Given the description of an element on the screen output the (x, y) to click on. 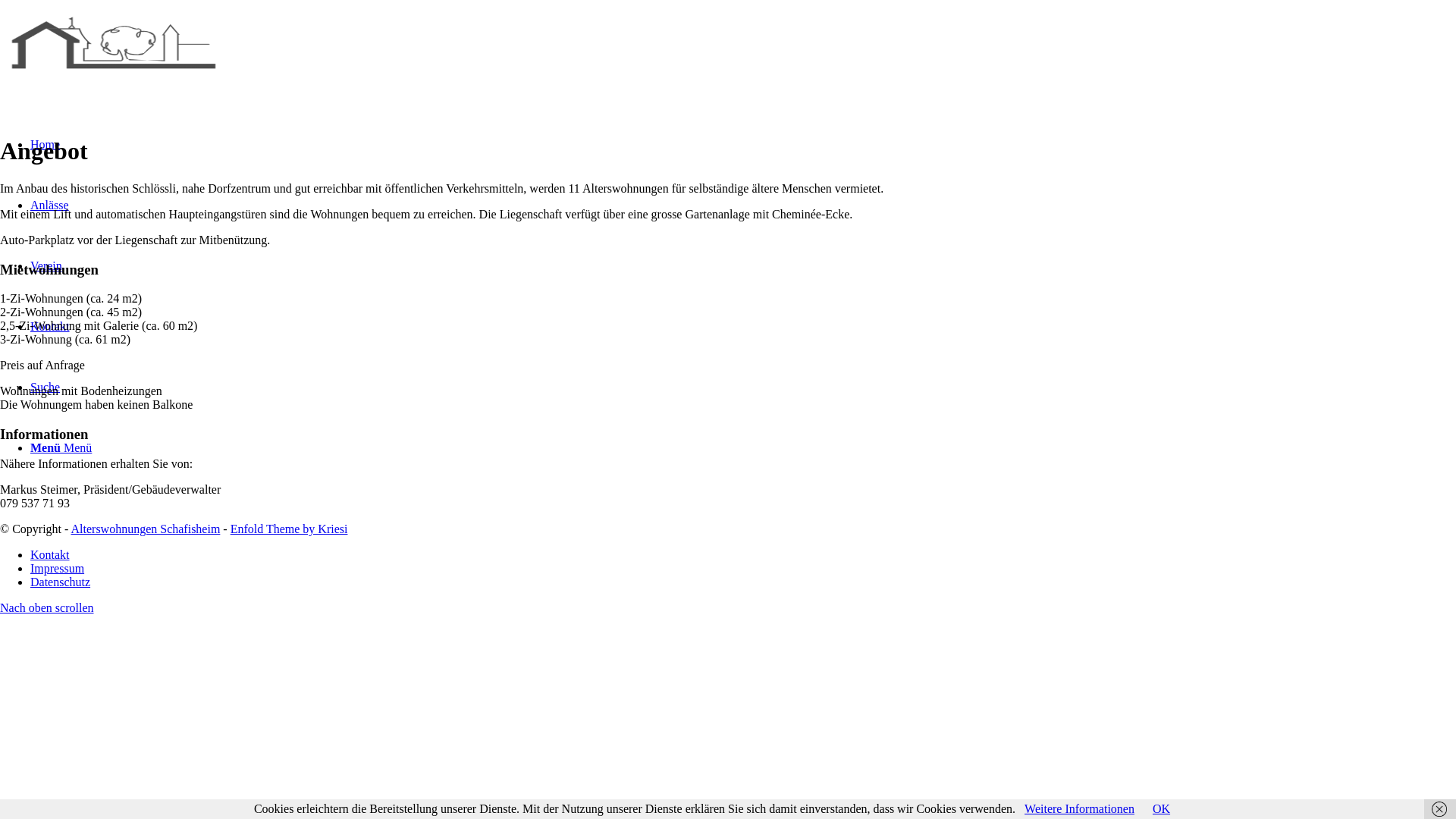
Nach oben scrollen Element type: text (47, 607)
Weitere Informationen Element type: text (1079, 808)
Kontakt Element type: text (49, 326)
Alterswohnungen Schafisheim Element type: text (145, 528)
Enfold Theme by Kriesi Element type: text (289, 528)
logo_bild_sw Element type: hover (113, 37)
logo_bild_sw Element type: hover (113, 71)
Verein Element type: text (46, 265)
Datenschutz Element type: text (60, 581)
Kontakt Element type: text (49, 554)
Home Element type: text (44, 144)
OK Element type: text (1161, 808)
Impressum Element type: text (57, 567)
Suche Element type: text (44, 386)
